Given the description of an element on the screen output the (x, y) to click on. 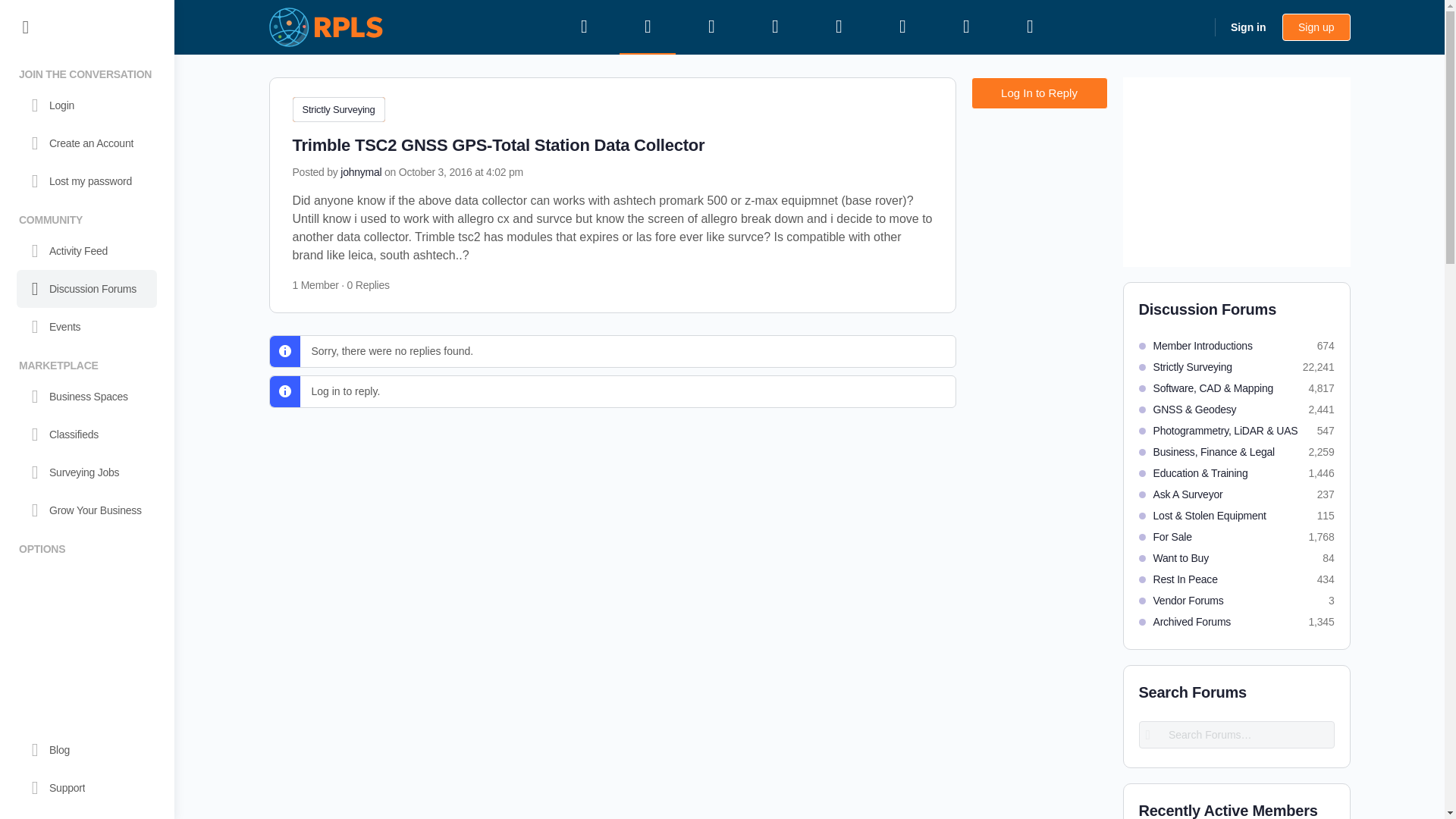
Business Spaces (86, 396)
Activity Feed (86, 250)
Surveying Jobs (86, 472)
JOIN THE CONVERSATION (87, 71)
Support (86, 787)
MARKETPLACE (87, 362)
Grow Your Business (86, 510)
Discussion Forums (86, 288)
View johnymal's profile (360, 172)
Login (86, 105)
